Given the description of an element on the screen output the (x, y) to click on. 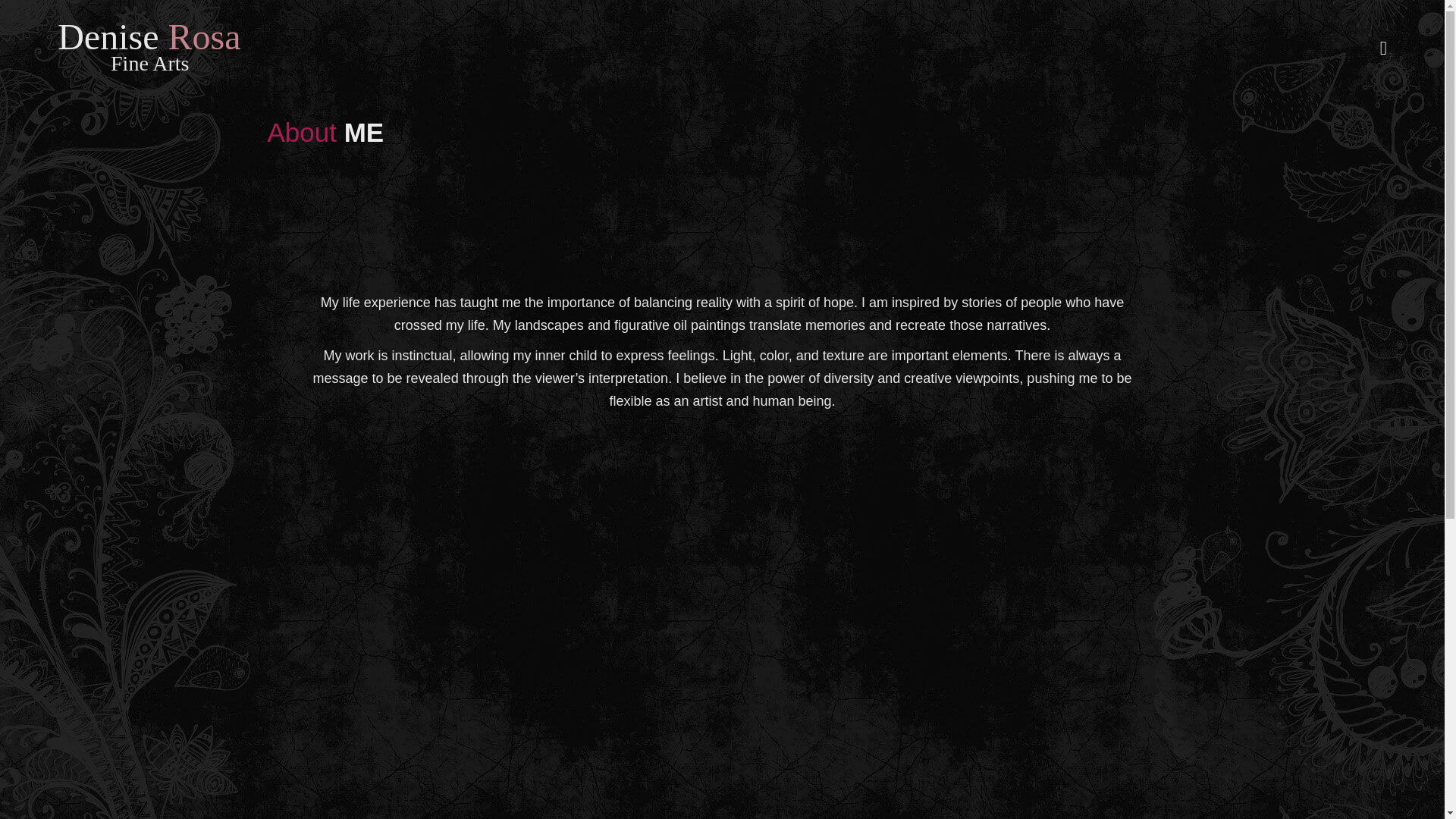
Fine Arts (149, 63)
Denise Rosa (149, 36)
